Given the description of an element on the screen output the (x, y) to click on. 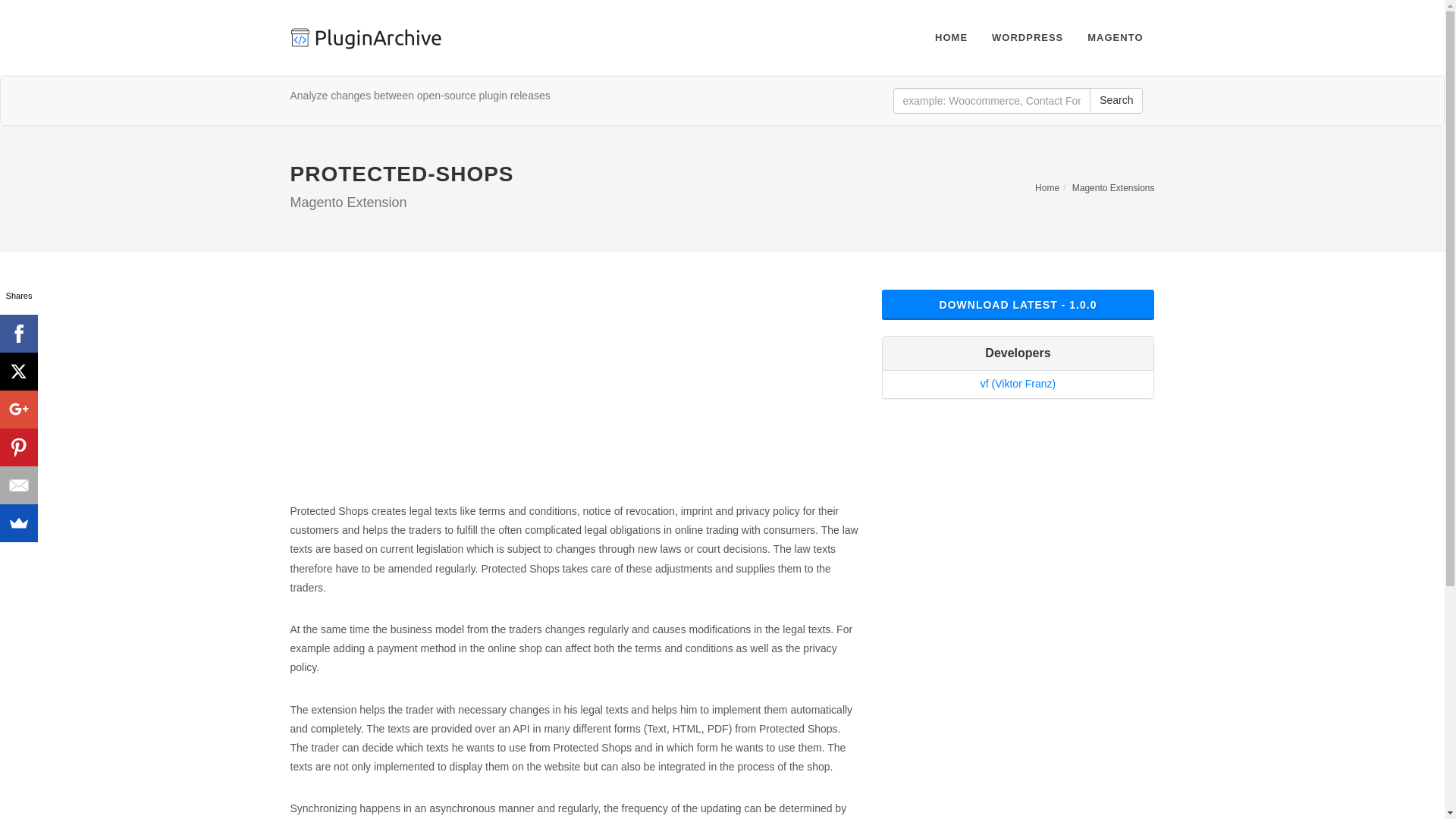
Pinterest (18, 447)
Email (18, 485)
Magento Extensions (1112, 186)
Facebook (18, 333)
MAGENTO (1114, 38)
SumoMe (18, 523)
Search (1115, 100)
Search (1115, 100)
X (18, 371)
WORDPRESS (1026, 38)
Advertisement (574, 395)
Home (1047, 186)
Advertisement (1017, 520)
DOWNLOAD LATEST - 1.0.0 (1017, 304)
